Given the description of an element on the screen output the (x, y) to click on. 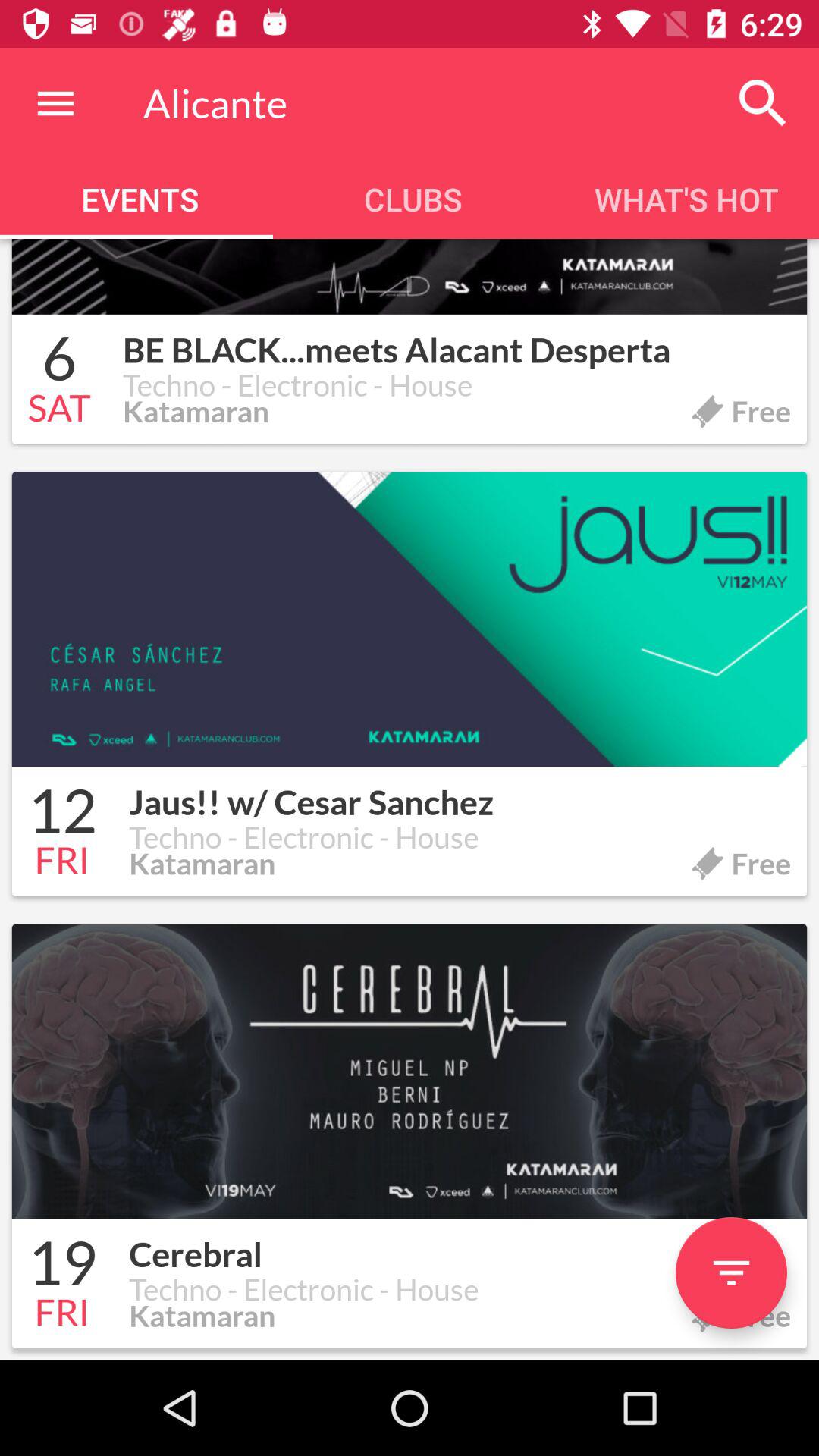
press the icon to the left of jaus w cesar icon (62, 813)
